Given the description of an element on the screen output the (x, y) to click on. 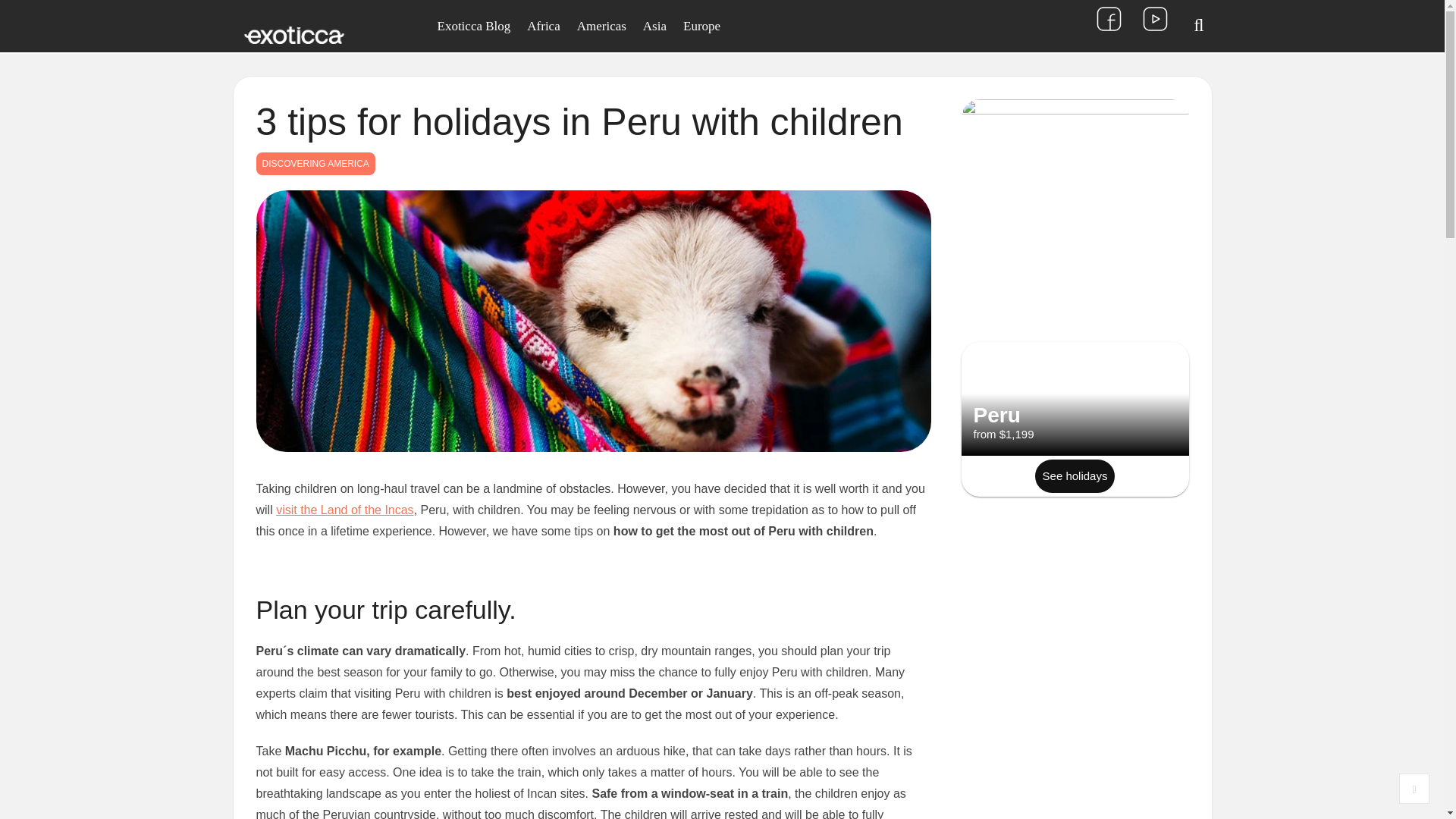
visit the Land of the Incas (344, 509)
Europe Vacation (702, 25)
Africa (542, 25)
Exoticca Blog (474, 25)
Asia (654, 25)
Americas (601, 25)
Europe (702, 25)
Exoticca Blog (474, 25)
Africa Vacation (542, 25)
Exoticca travel (293, 36)
DISCOVERING AMERICA (315, 163)
Americas Vacation (601, 25)
Asia Vacation (654, 25)
